Given the description of an element on the screen output the (x, y) to click on. 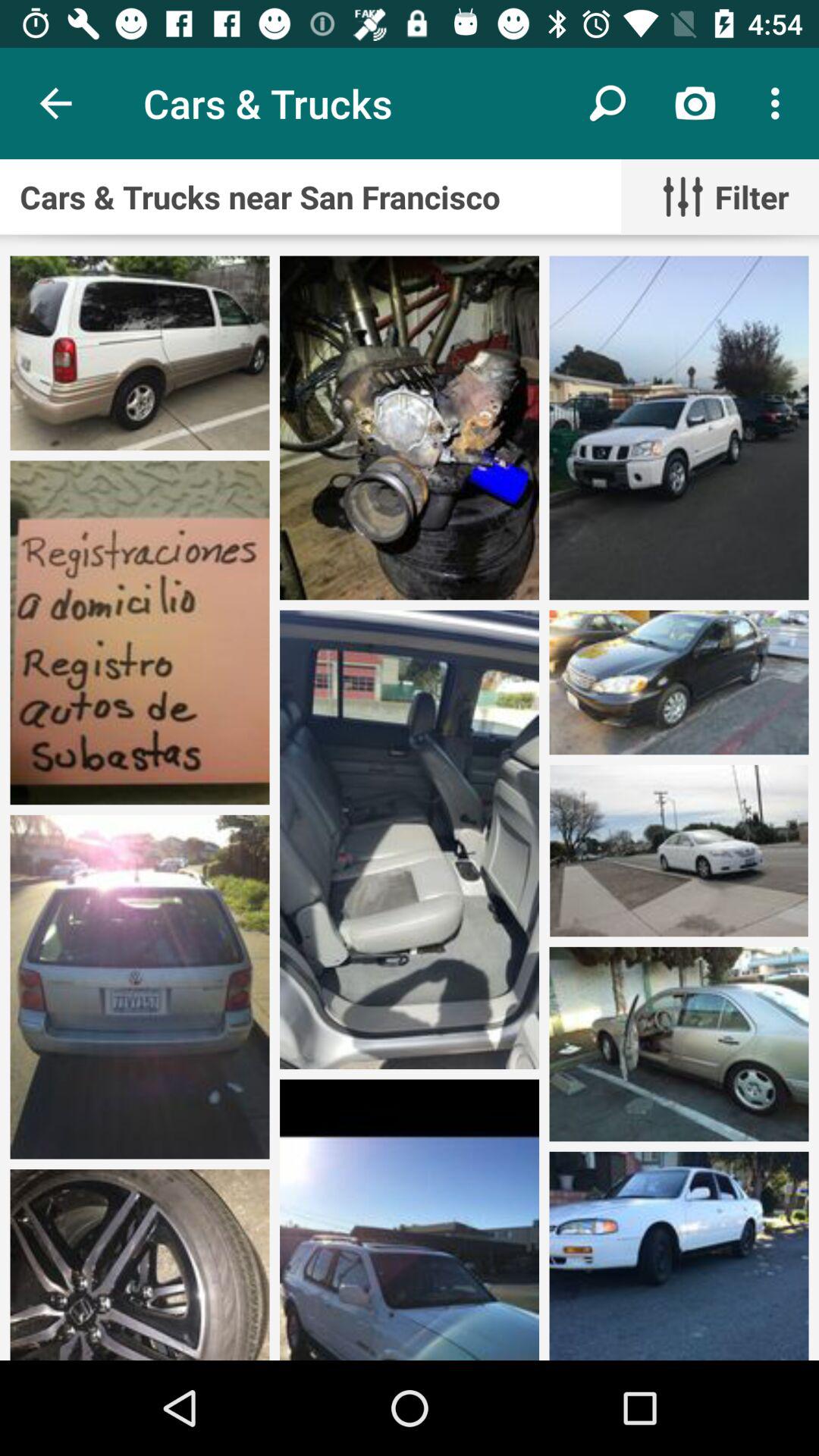
click icon above the cars trucks near (55, 103)
